Given the description of an element on the screen output the (x, y) to click on. 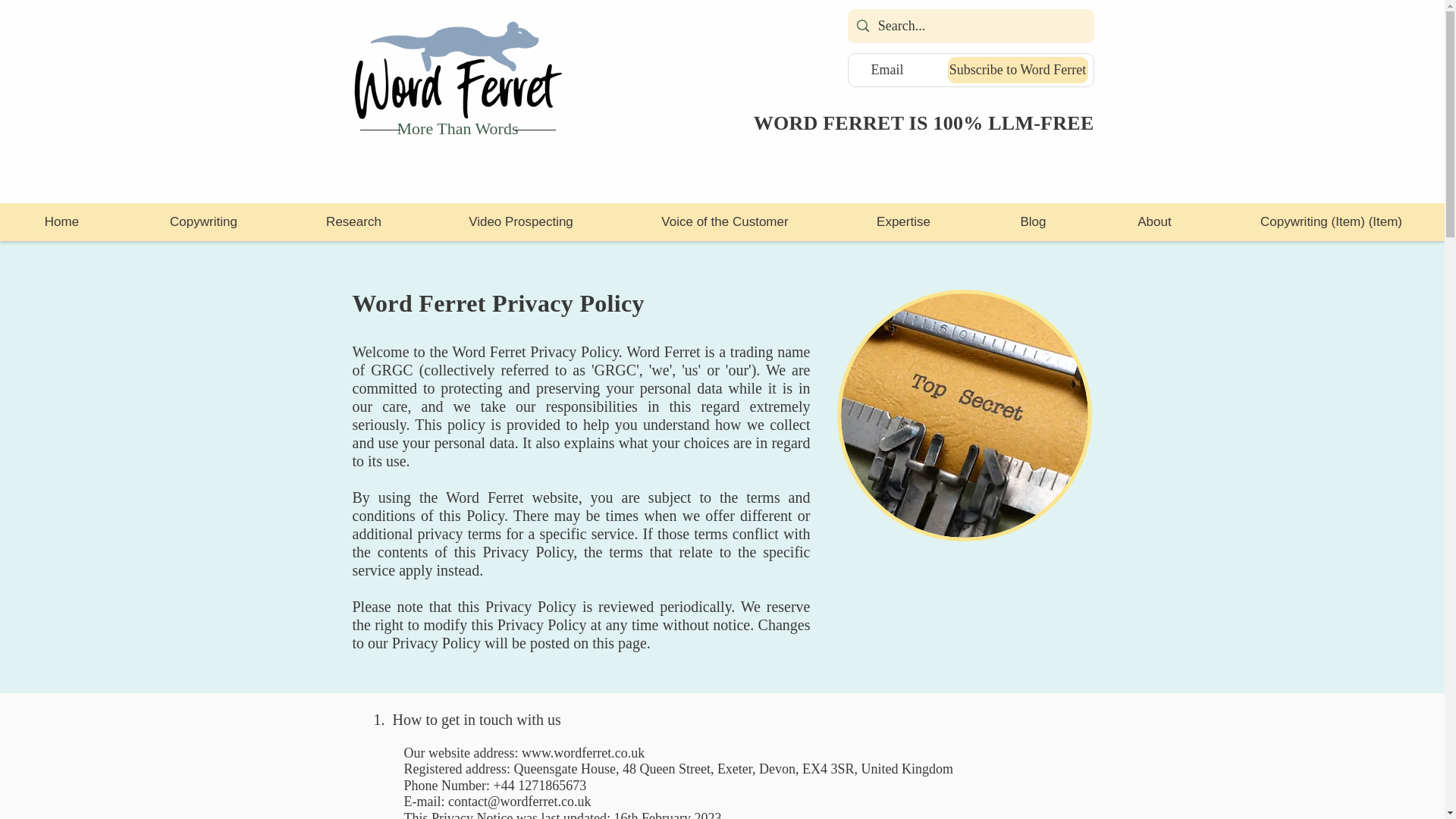
Home (61, 221)
Subscribe to Word Ferret (1017, 69)
Research (352, 221)
Blog (1032, 221)
www.wordferret.co.uk (583, 752)
Word Ferret - Privacy policy (964, 415)
Voice of the Customer (724, 221)
Copywriting (202, 221)
Word Ferret logo (457, 70)
